Given the description of an element on the screen output the (x, y) to click on. 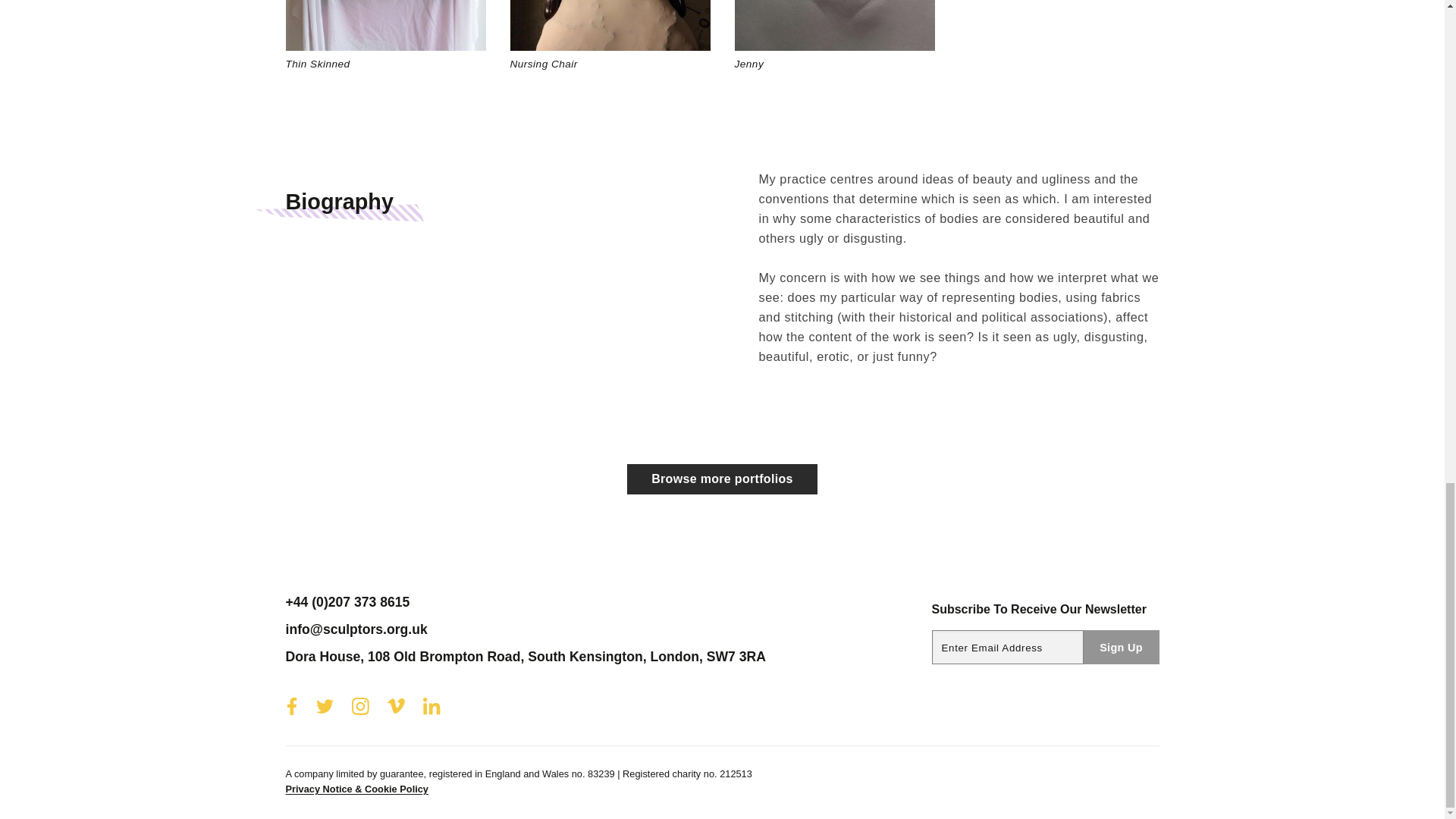
Jenny (833, 36)
Sign Up (1120, 646)
Thin Skinned (384, 36)
Browse more portfolios (721, 479)
Nursing Chair (609, 36)
